Given the description of an element on the screen output the (x, y) to click on. 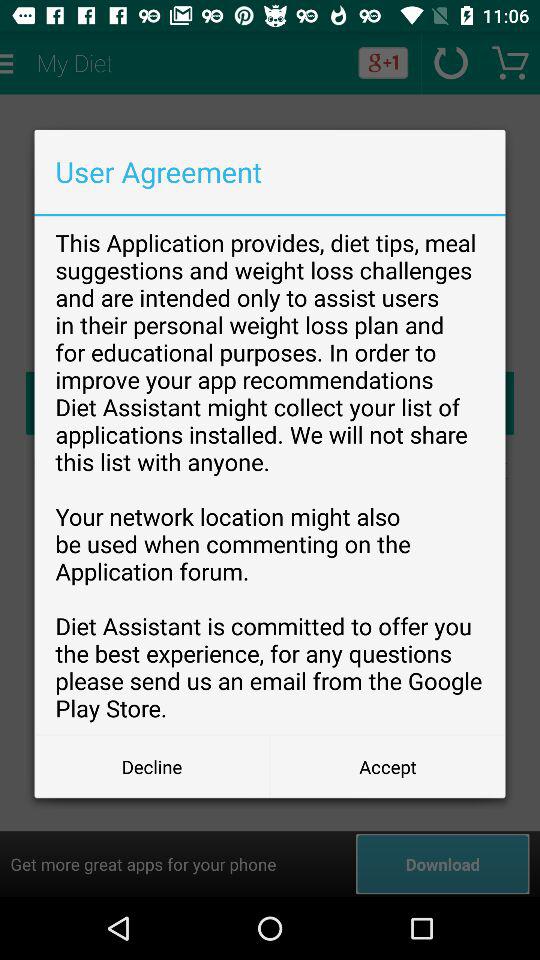
launch button at the bottom left corner (151, 766)
